Given the description of an element on the screen output the (x, y) to click on. 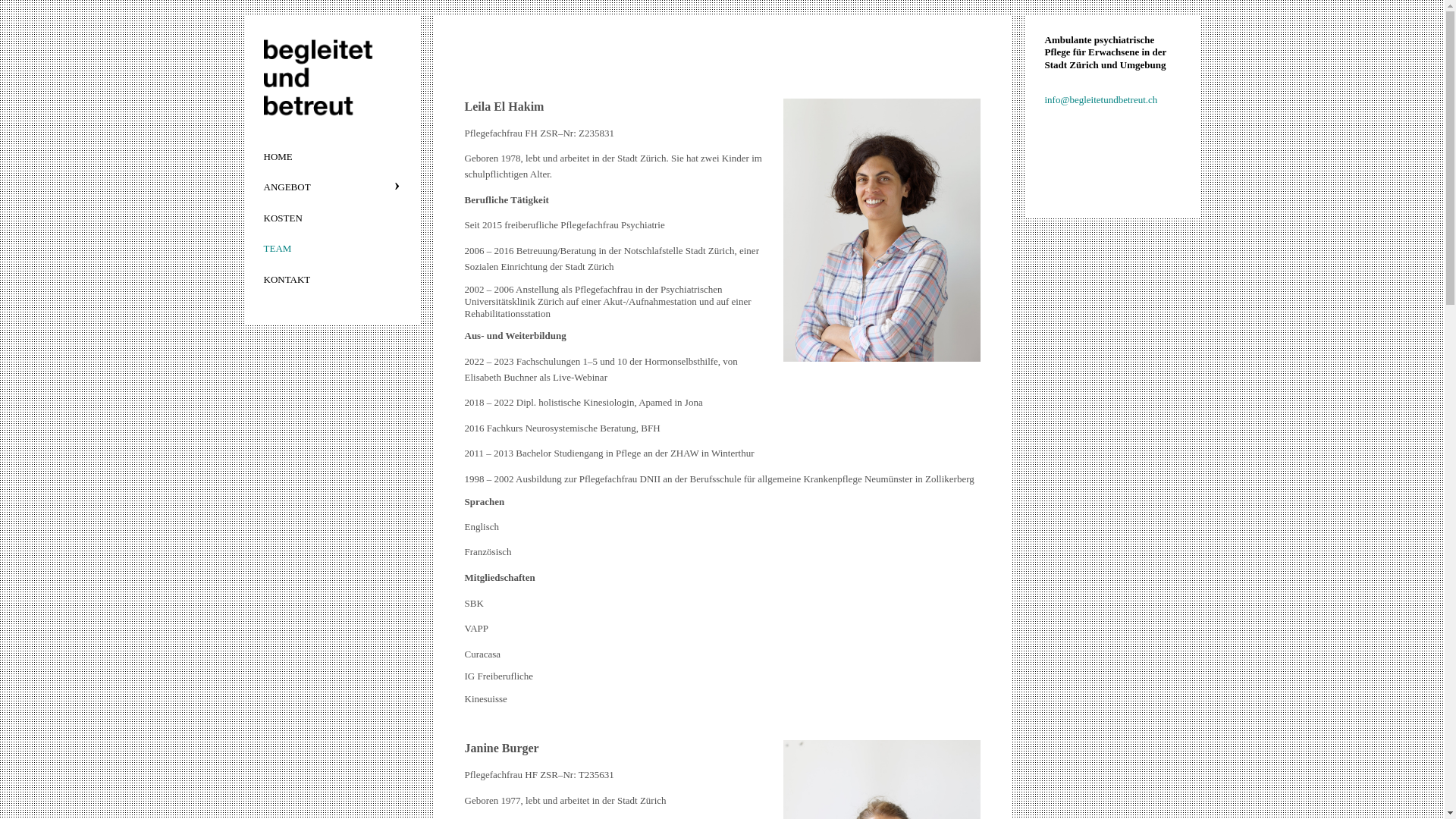
info@begleitetundbetreut.ch  Element type: text (1102, 99)
KONTAKT Element type: text (331, 278)
TEAM Element type: text (331, 247)
HOME Element type: text (331, 156)
KOSTEN Element type: text (331, 217)
ANGEBOT Element type: text (331, 186)
